Given the description of an element on the screen output the (x, y) to click on. 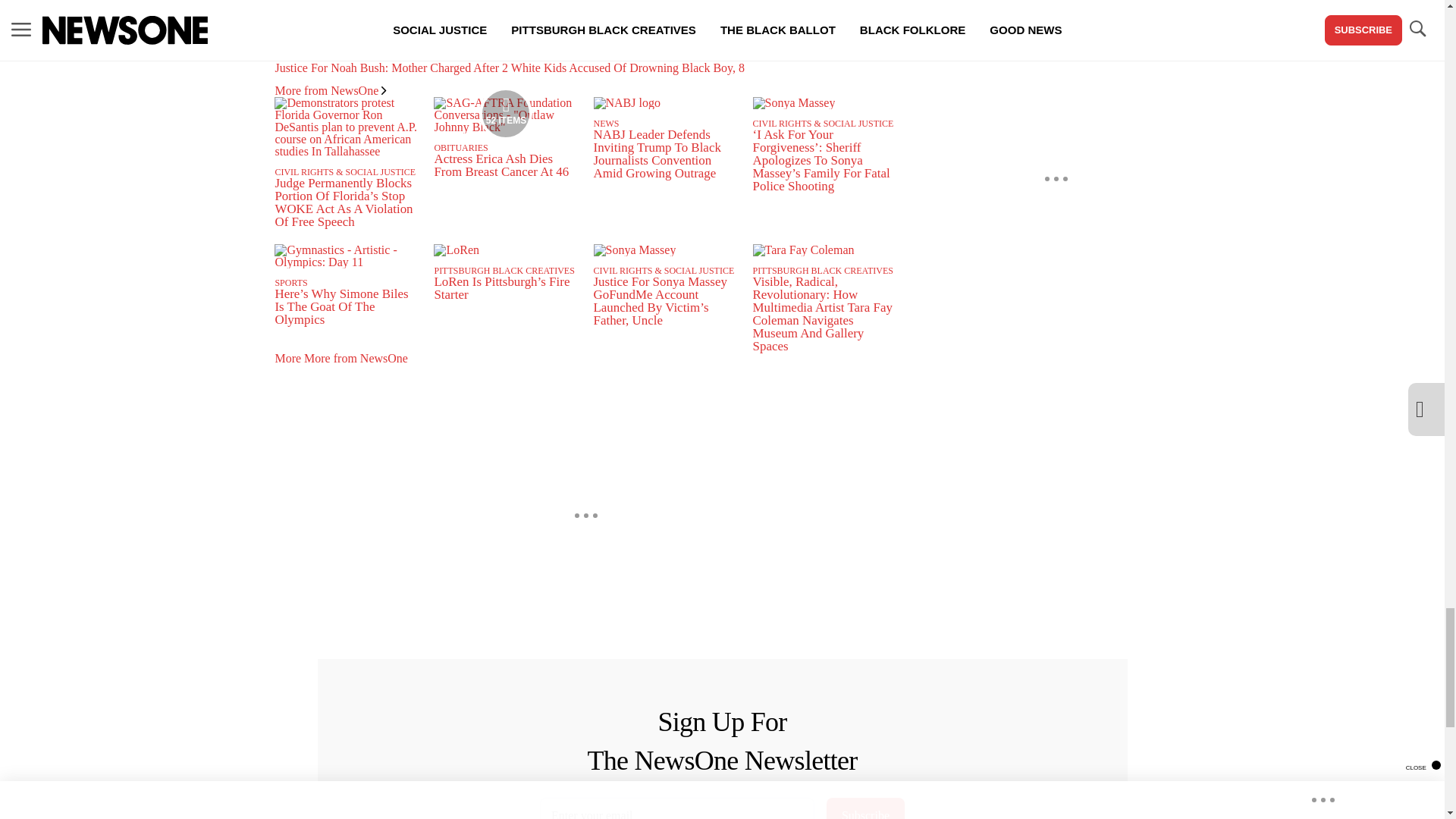
Media Playlist (505, 113)
More from NewsOne (330, 90)
